Given the description of an element on the screen output the (x, y) to click on. 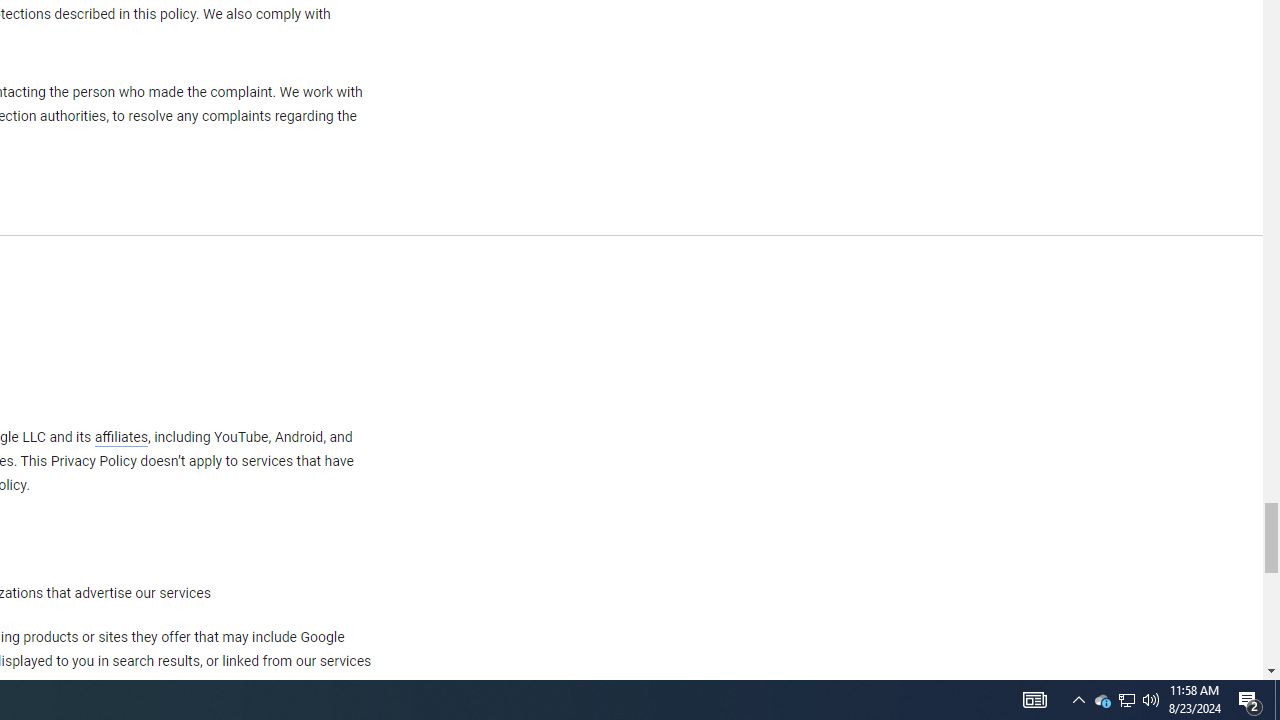
affiliates (120, 437)
